Given the description of an element on the screen output the (x, y) to click on. 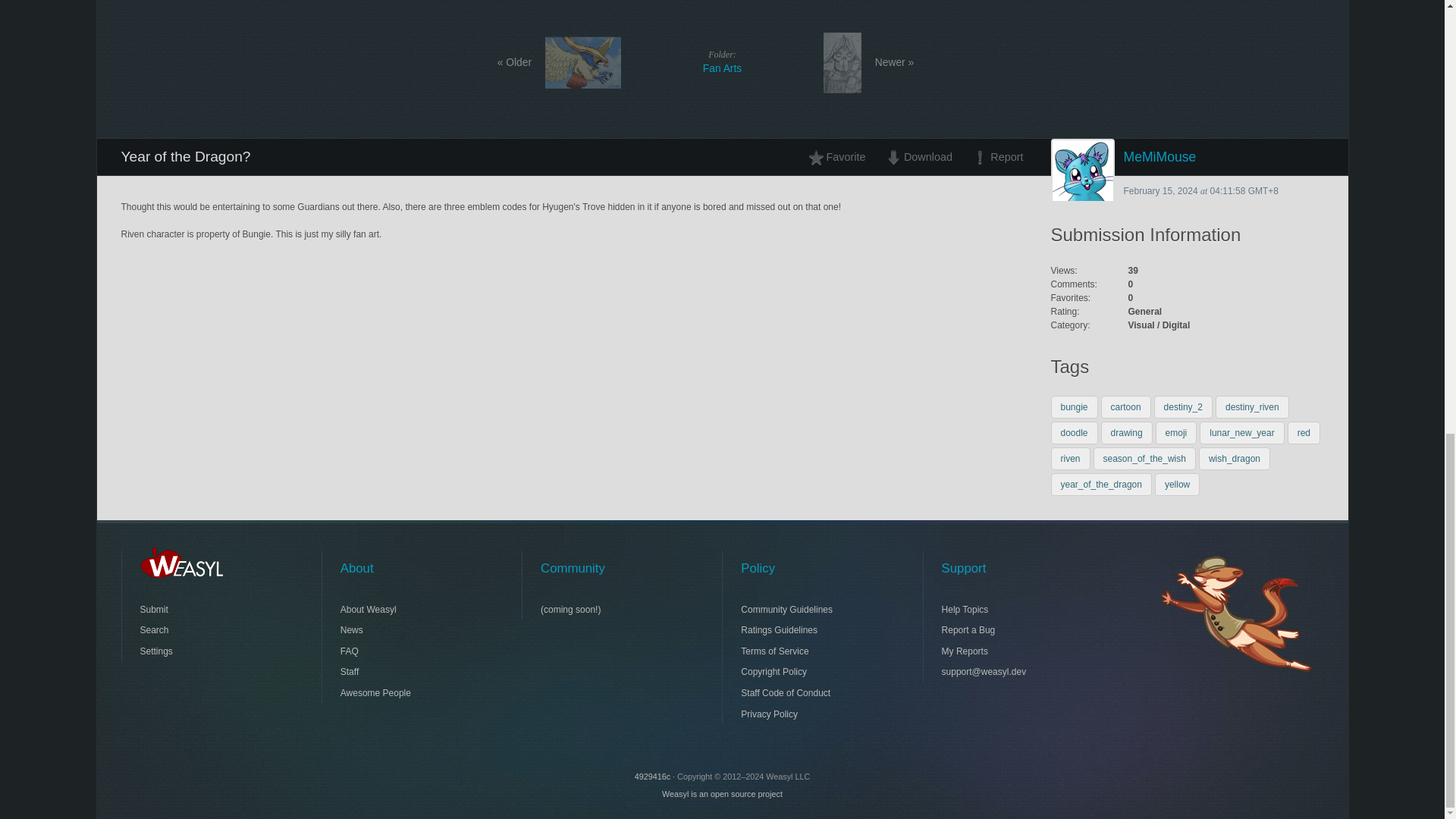
yellow (1176, 484)
cartoon (722, 61)
drawing (1125, 406)
Favorite (1126, 432)
emoji (841, 156)
Report (1176, 432)
red (993, 156)
riven (1303, 432)
Download (1070, 458)
